Given the description of an element on the screen output the (x, y) to click on. 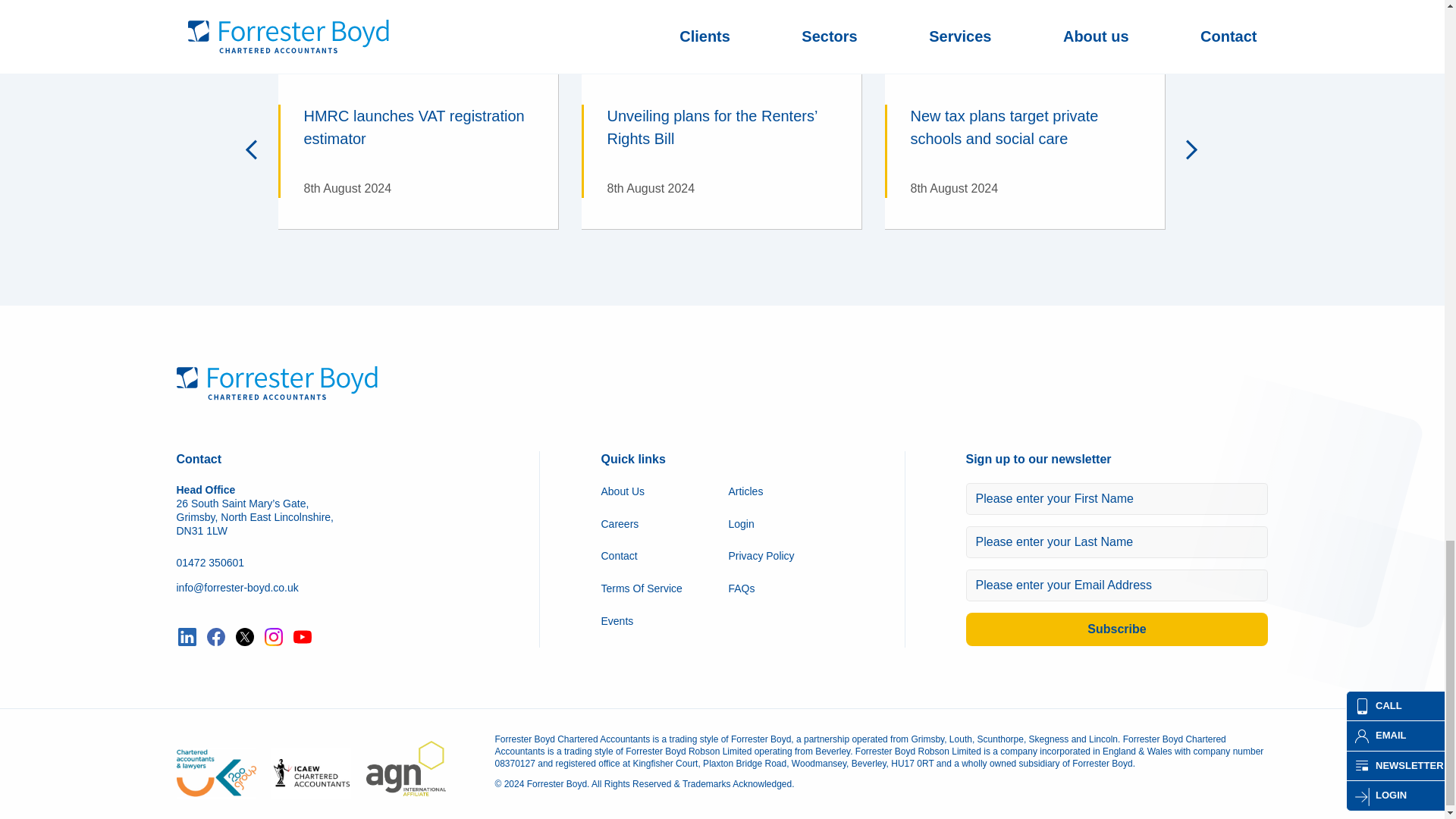
New tax plans target private schools and social care (1024, 151)
Subscribe (1117, 629)
HMRC launches VAT registration estimator (417, 151)
